Given the description of an element on the screen output the (x, y) to click on. 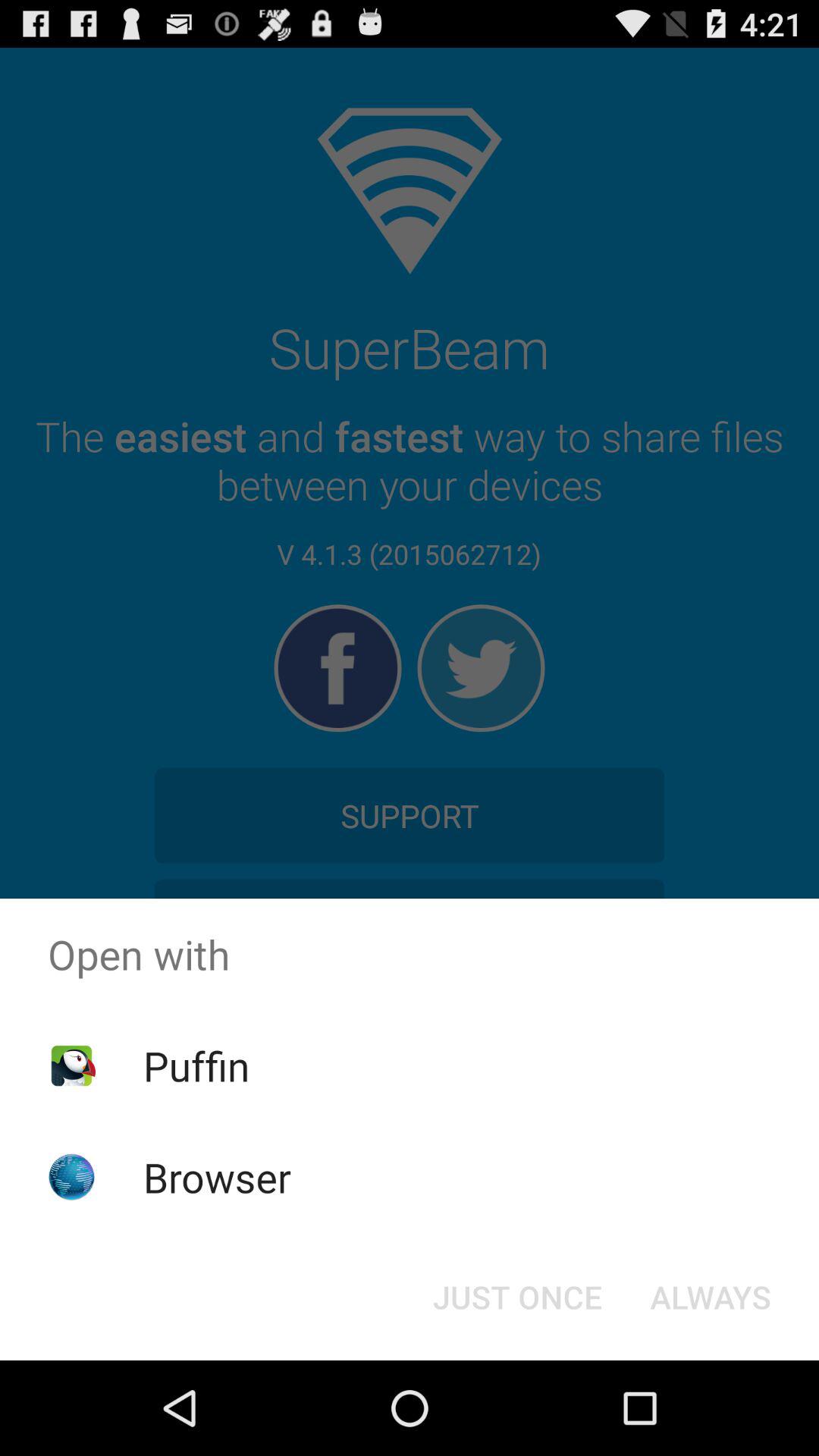
flip until browser icon (217, 1176)
